Given the description of an element on the screen output the (x, y) to click on. 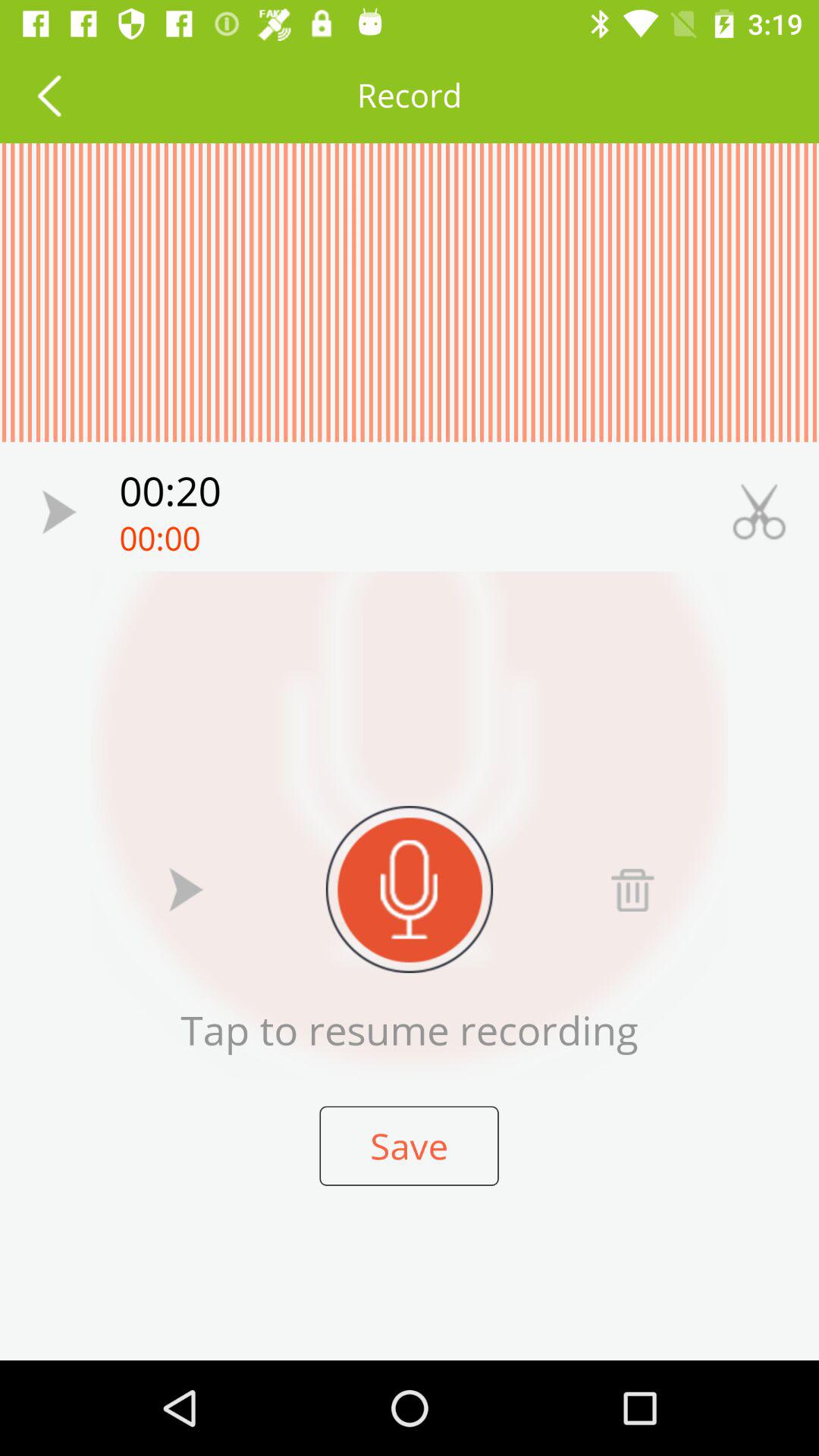
tap the item above tap to resume (632, 889)
